Given the description of an element on the screen output the (x, y) to click on. 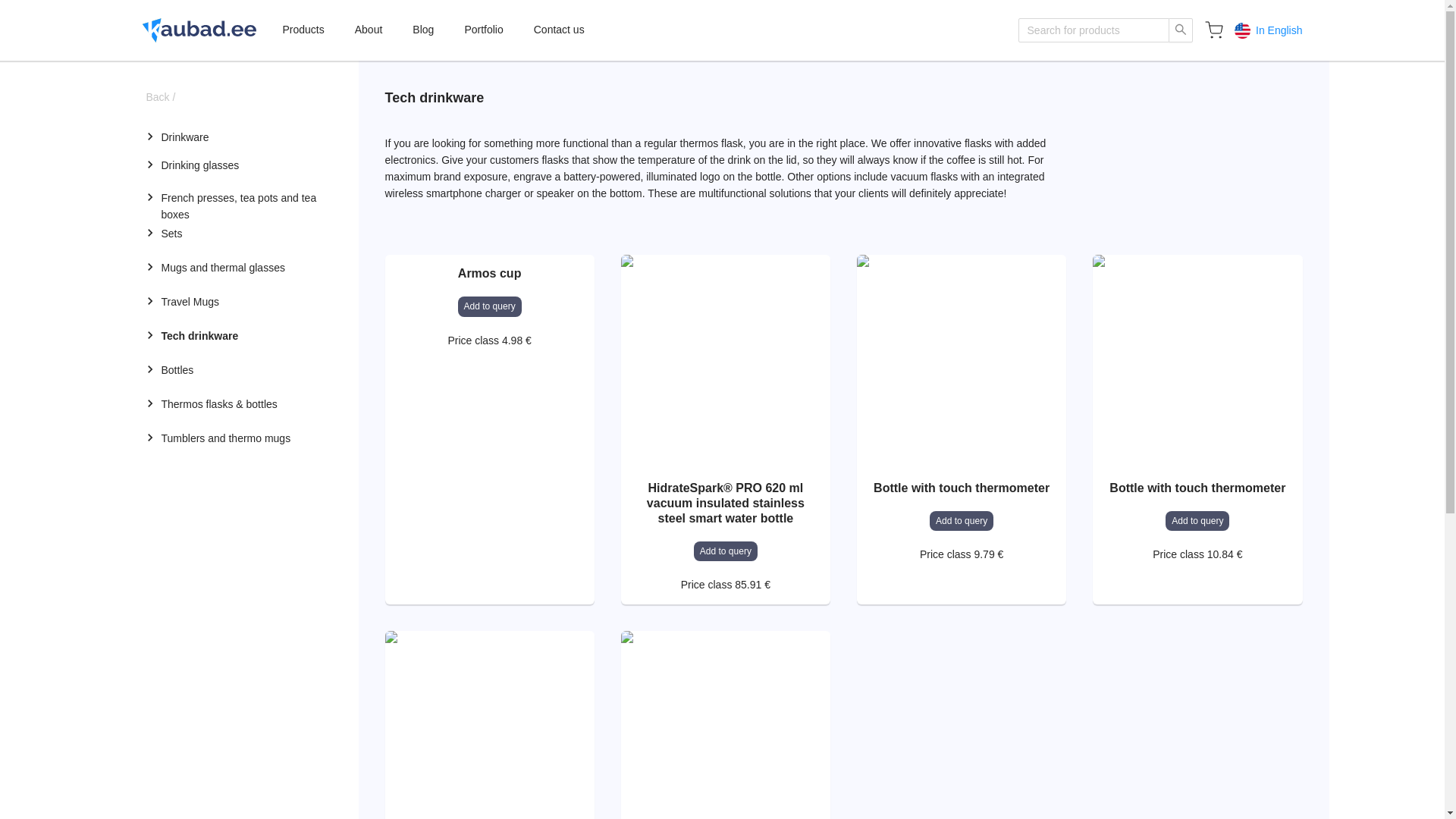
Sets (236, 233)
Add to query (1197, 521)
French presses, tea pots and tea boxes (236, 198)
Blog (422, 29)
Bottle with touch thermometer (1196, 488)
Add to query (725, 551)
Drinking glasses (236, 164)
Armos cup (489, 273)
About (368, 29)
Bottles (236, 369)
